Given the description of an element on the screen output the (x, y) to click on. 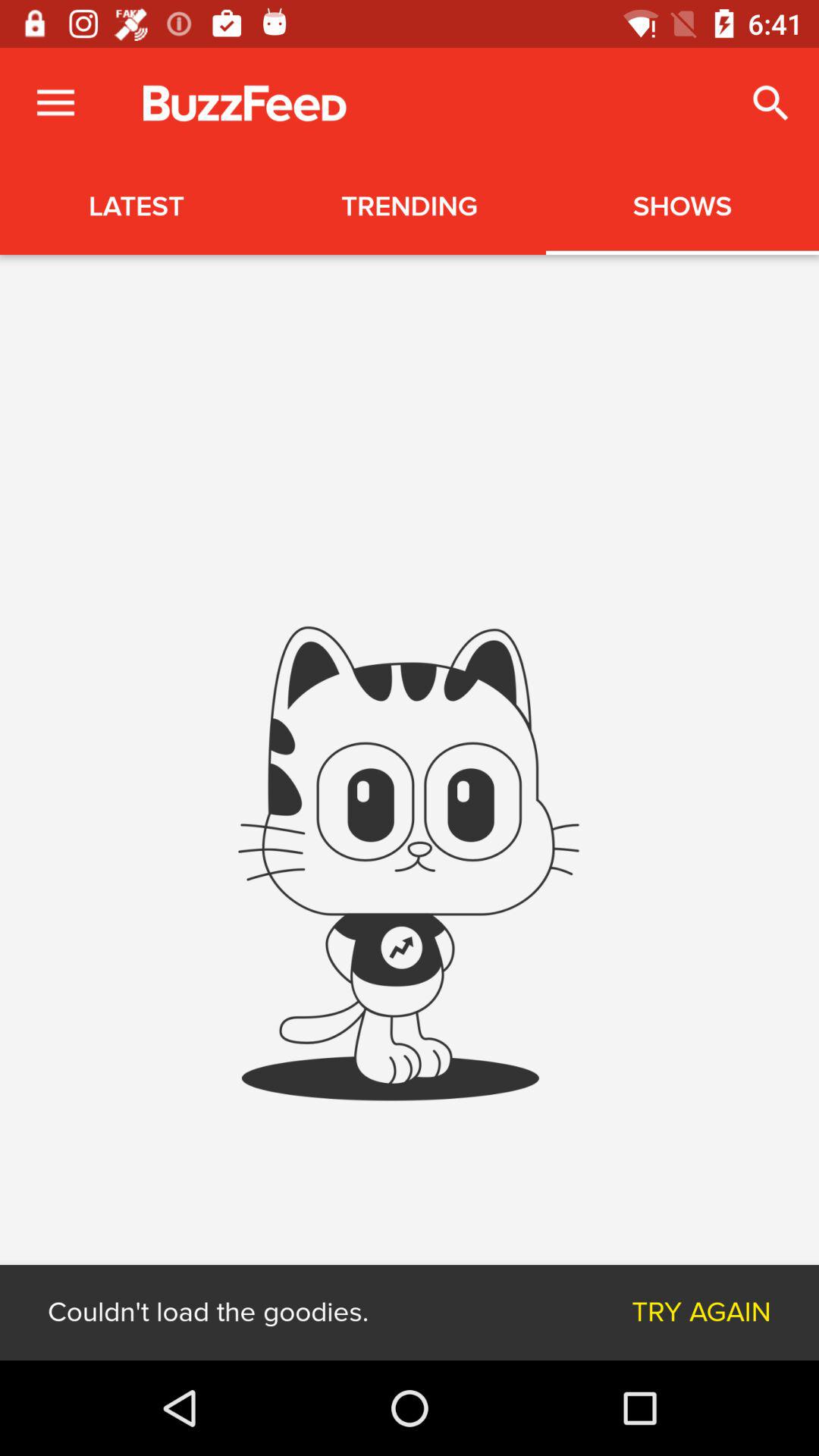
press the icon at the bottom right corner (701, 1312)
